Given the description of an element on the screen output the (x, y) to click on. 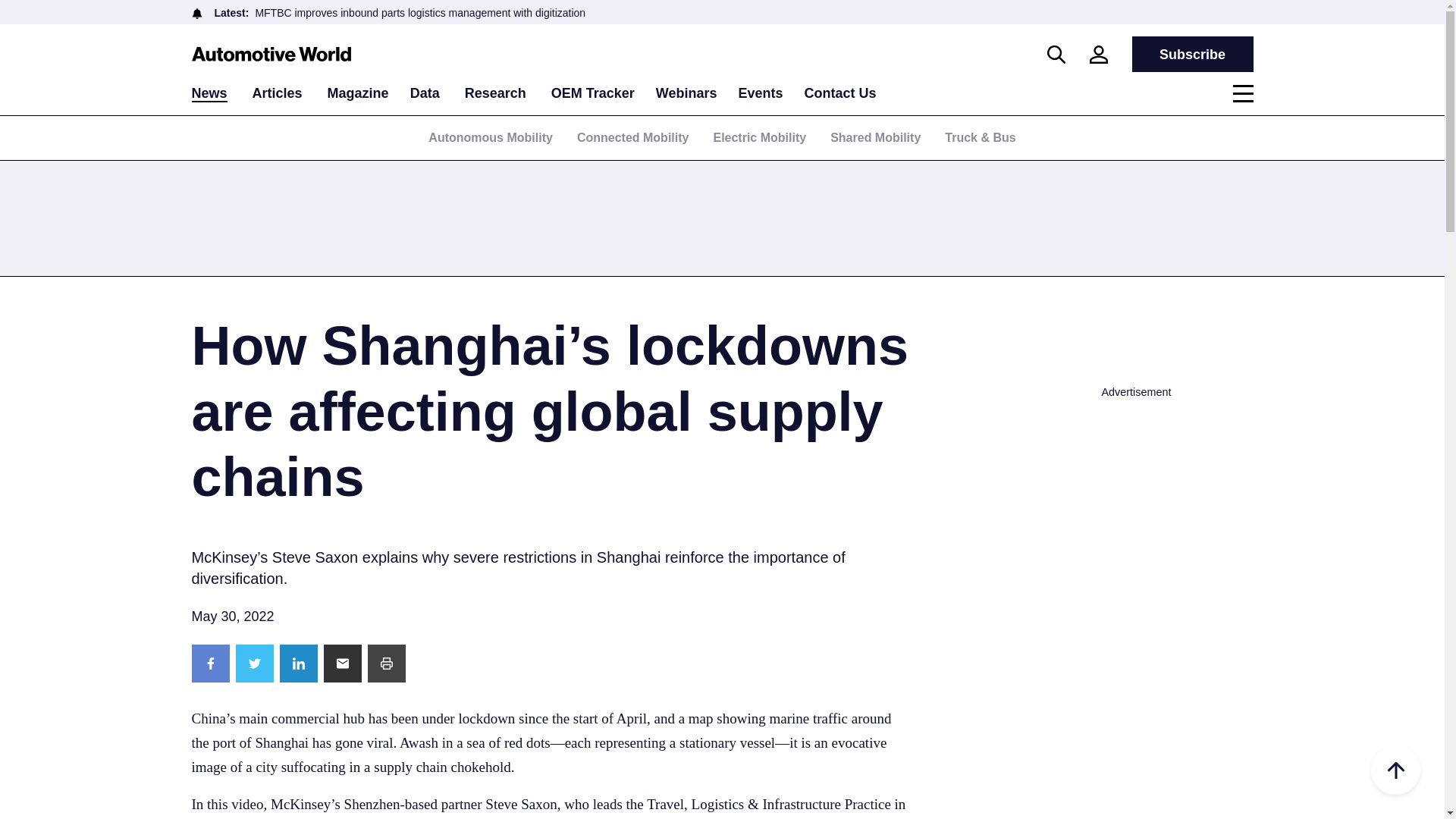
Login (1097, 54)
Articles (276, 92)
Magazine (357, 92)
Log In (781, 304)
Autonomous Mobility (490, 137)
Subscribe (1191, 54)
Connected Mobility (632, 137)
Data (424, 92)
News (208, 93)
Subscribe (1191, 54)
